Given the description of an element on the screen output the (x, y) to click on. 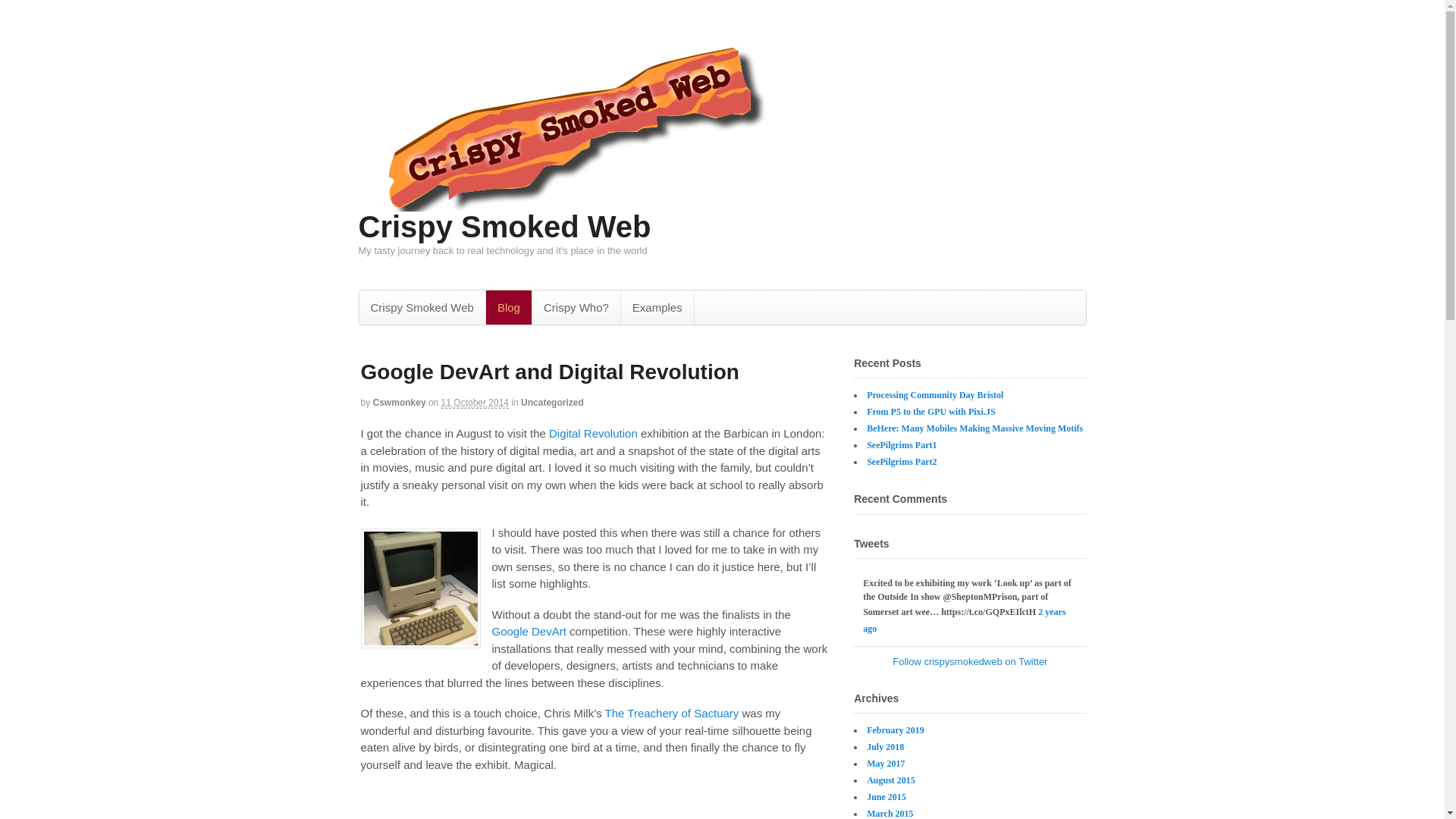
May 2017 (885, 763)
February 2019 (895, 729)
Posts by cswmonkey (399, 402)
SeePilgrims Part1 (901, 444)
Cswmonkey (399, 402)
Digital Revolution (592, 432)
SeePilgrims Part2 (901, 461)
Uncategorized (552, 402)
2 years ago (964, 619)
From P5 to the GPU with Pixi.JS (930, 411)
August 2015 (890, 779)
Examples (657, 307)
Follow crispysmokedweb on Twitter (969, 661)
BeHere: Many Mobiles Making Massive Moving Motifs (974, 428)
